Given the description of an element on the screen output the (x, y) to click on. 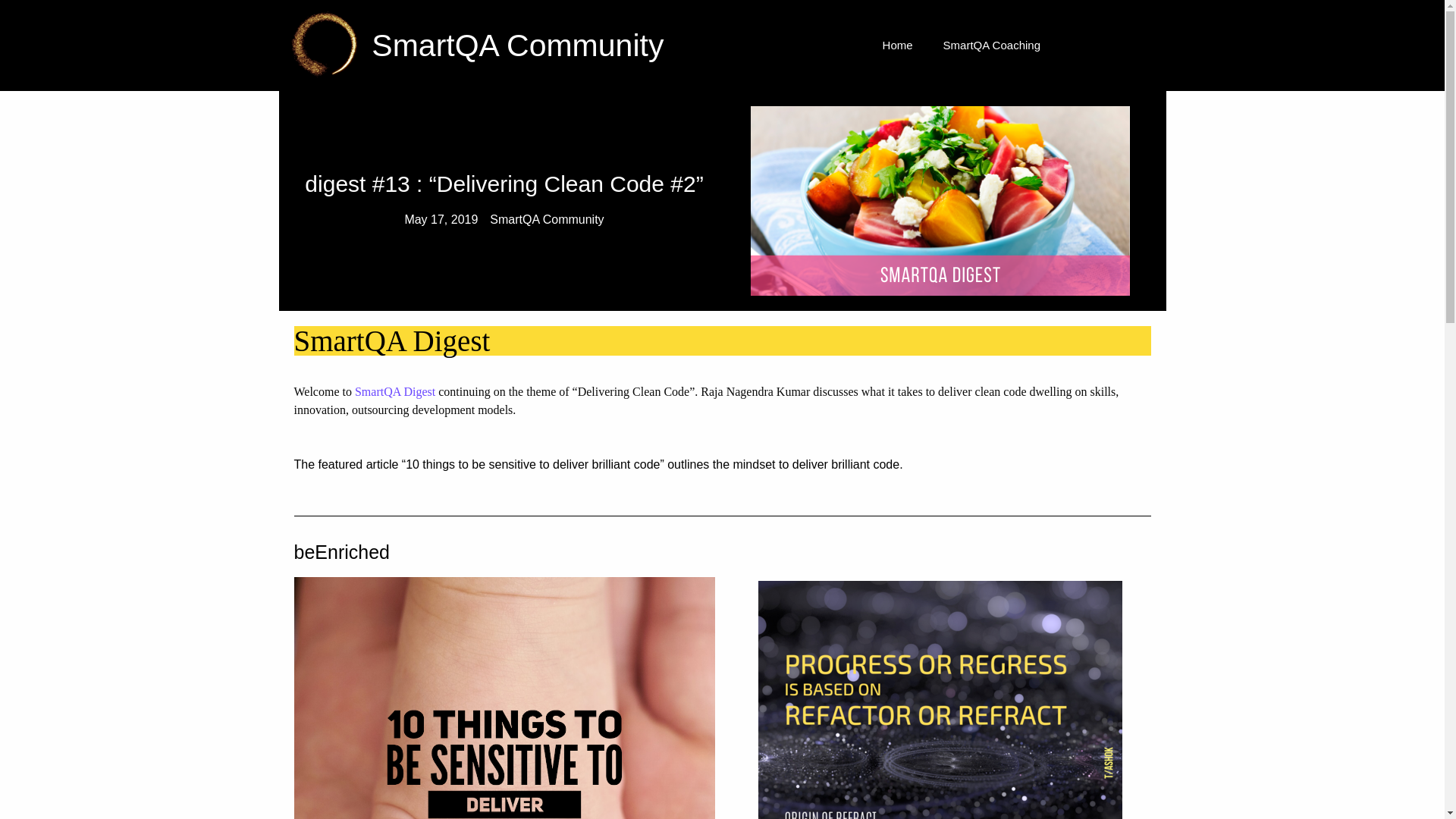
SmartQA Coaching (991, 45)
beEnriched (342, 551)
SmartQA Community (546, 219)
May 17, 2019 (440, 219)
SmartQA Digest (395, 391)
